Given the description of an element on the screen output the (x, y) to click on. 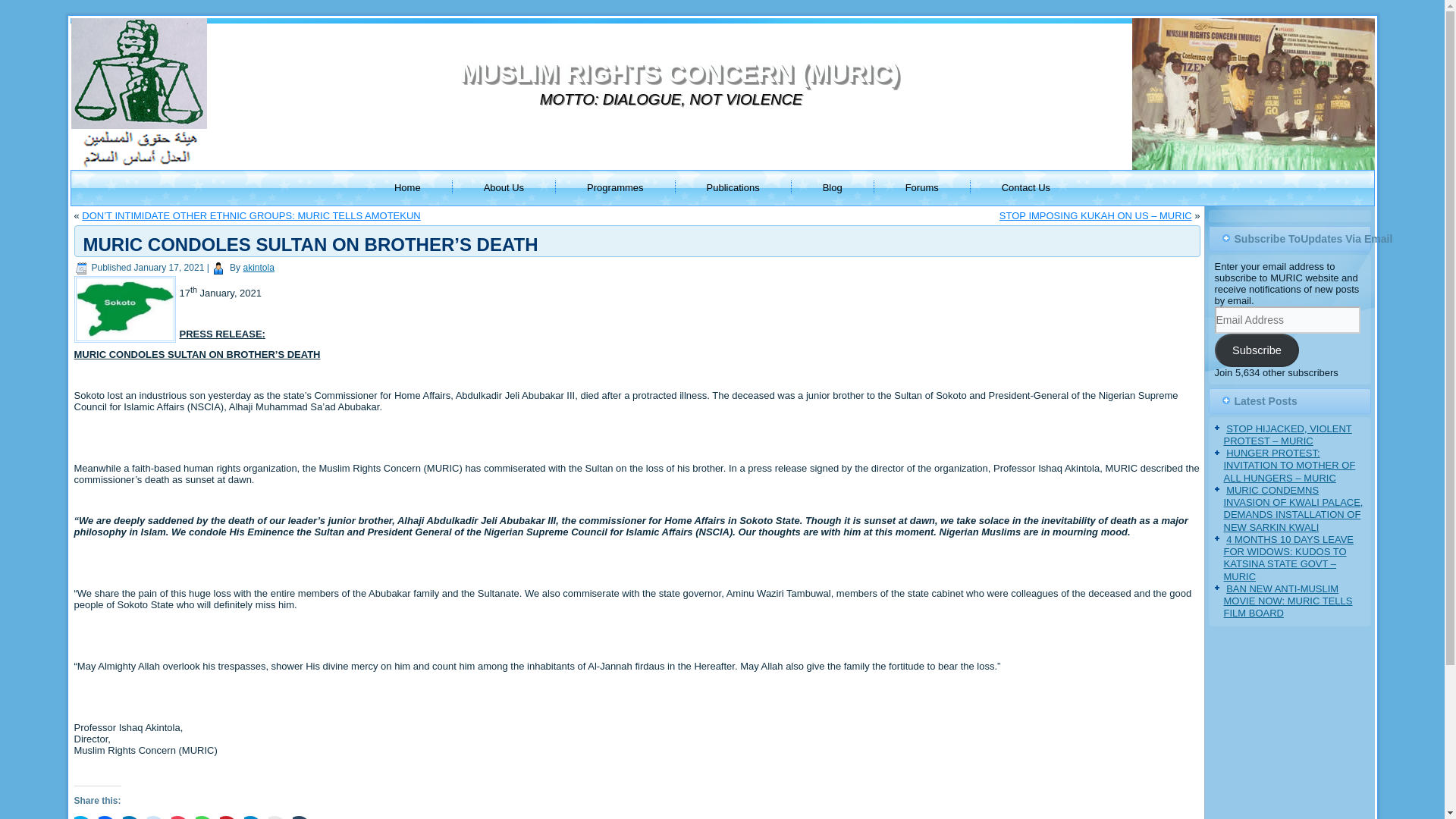
Home (406, 187)
Forums (922, 187)
Forums (922, 187)
About Us (503, 187)
About Us (503, 187)
akintola (258, 267)
Programmes (615, 187)
Blog (832, 187)
Publications (732, 187)
Contact Us (1026, 187)
Publications (732, 187)
Blog (832, 187)
Programmes (615, 187)
Home (406, 187)
